Given the description of an element on the screen output the (x, y) to click on. 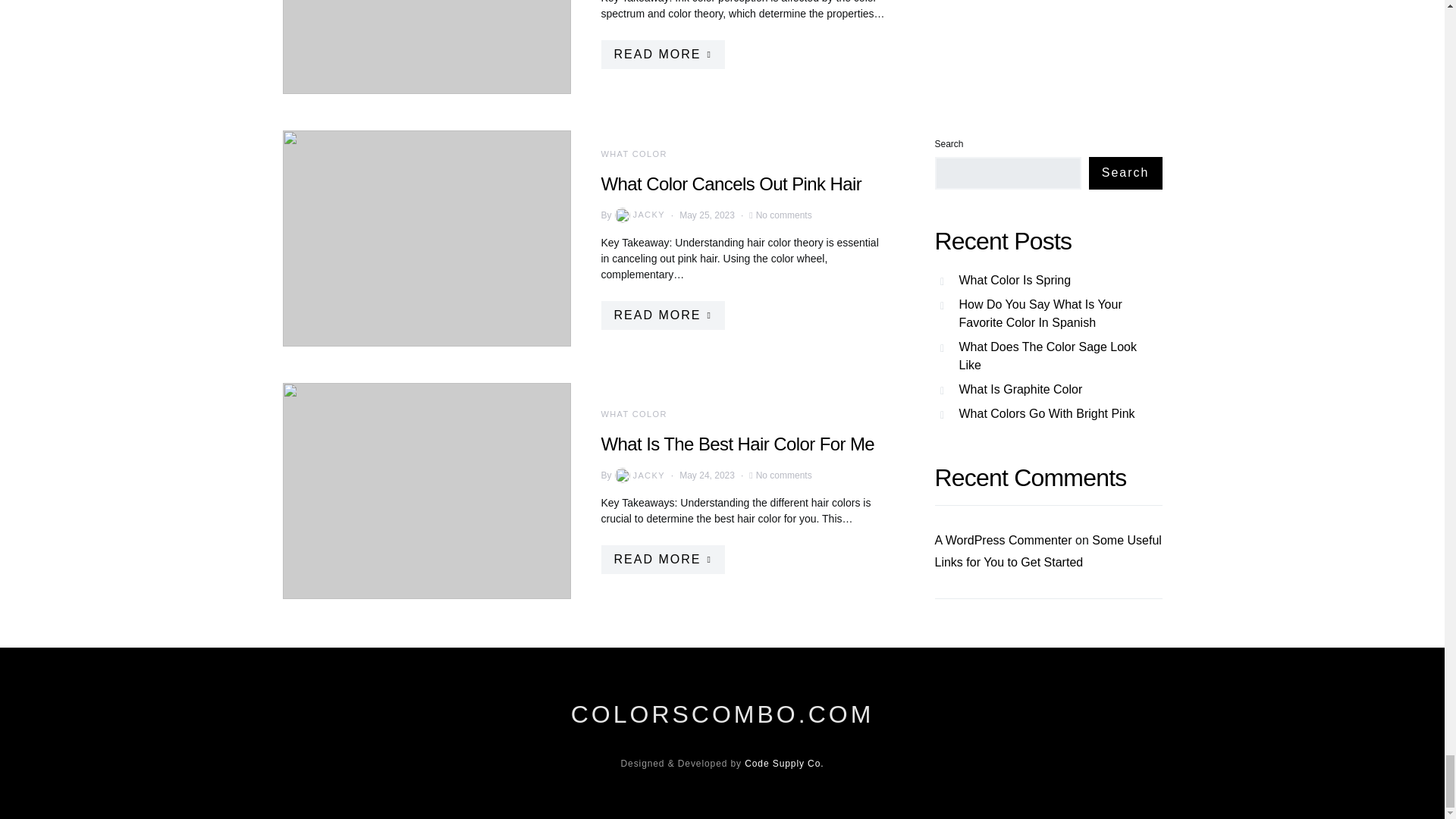
View all posts by Jacky (638, 475)
View all posts by Jacky (638, 214)
